Given the description of an element on the screen output the (x, y) to click on. 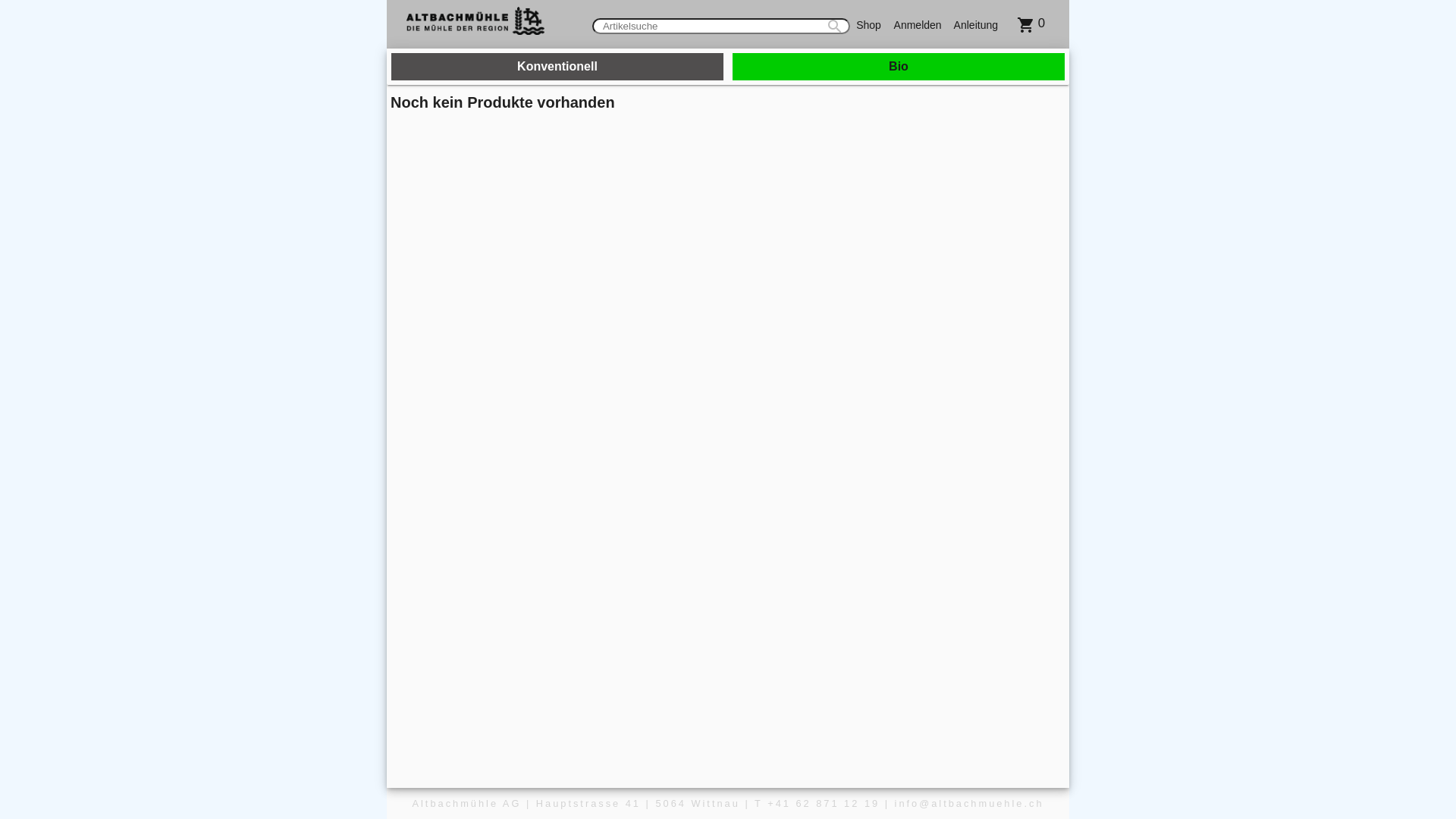
Anleitung Element type: text (975, 23)
Konventionell Element type: text (557, 66)
Shop Element type: text (869, 23)
Anmelden Element type: text (917, 23)
search Element type: text (830, 25)
Bio Element type: text (898, 66)
shopping_cart
0 Element type: text (1030, 23)
